Given the description of an element on the screen output the (x, y) to click on. 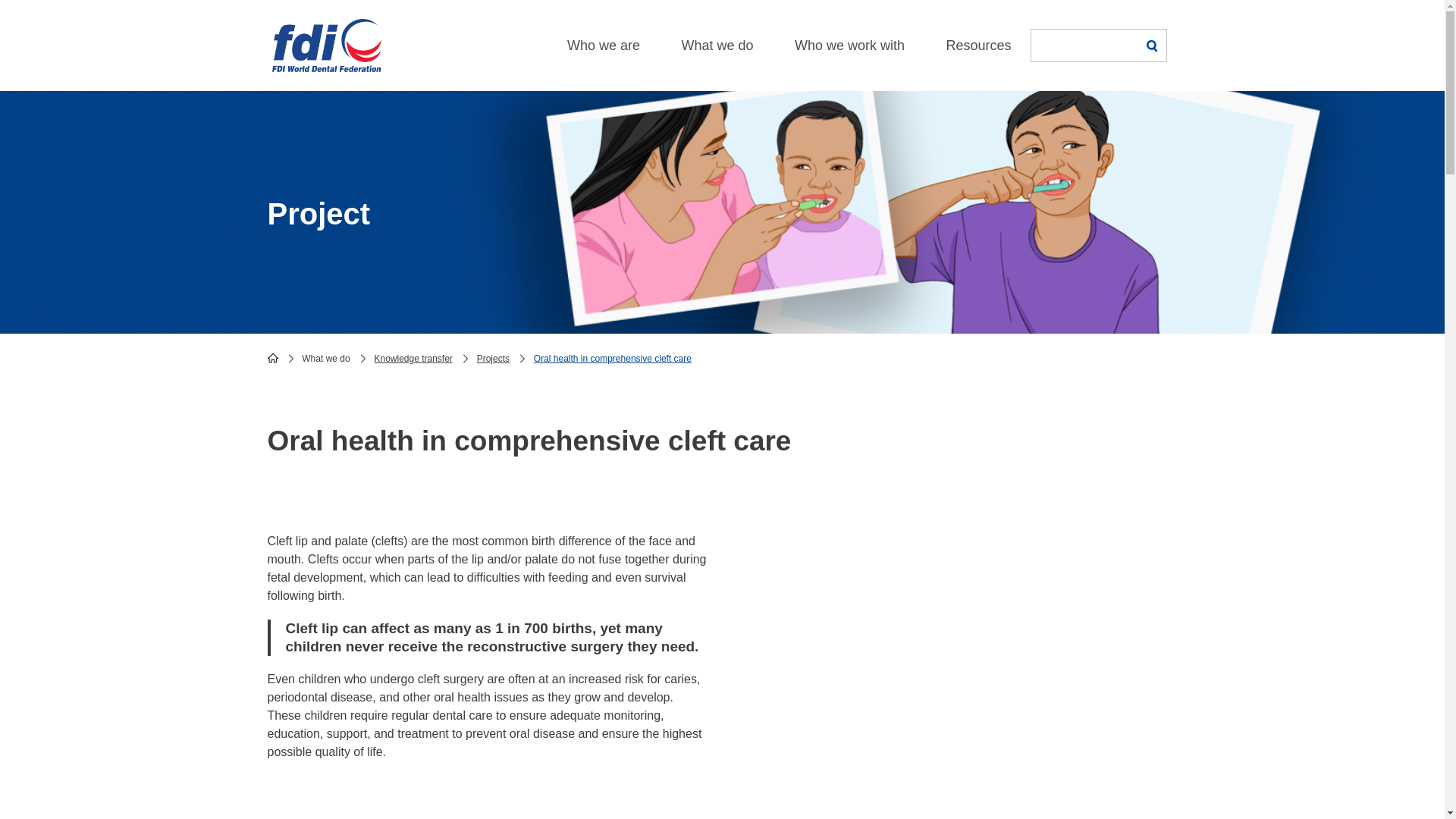
Oral Health in Comprehensive Cleft Care (956, 643)
